Given the description of an element on the screen output the (x, y) to click on. 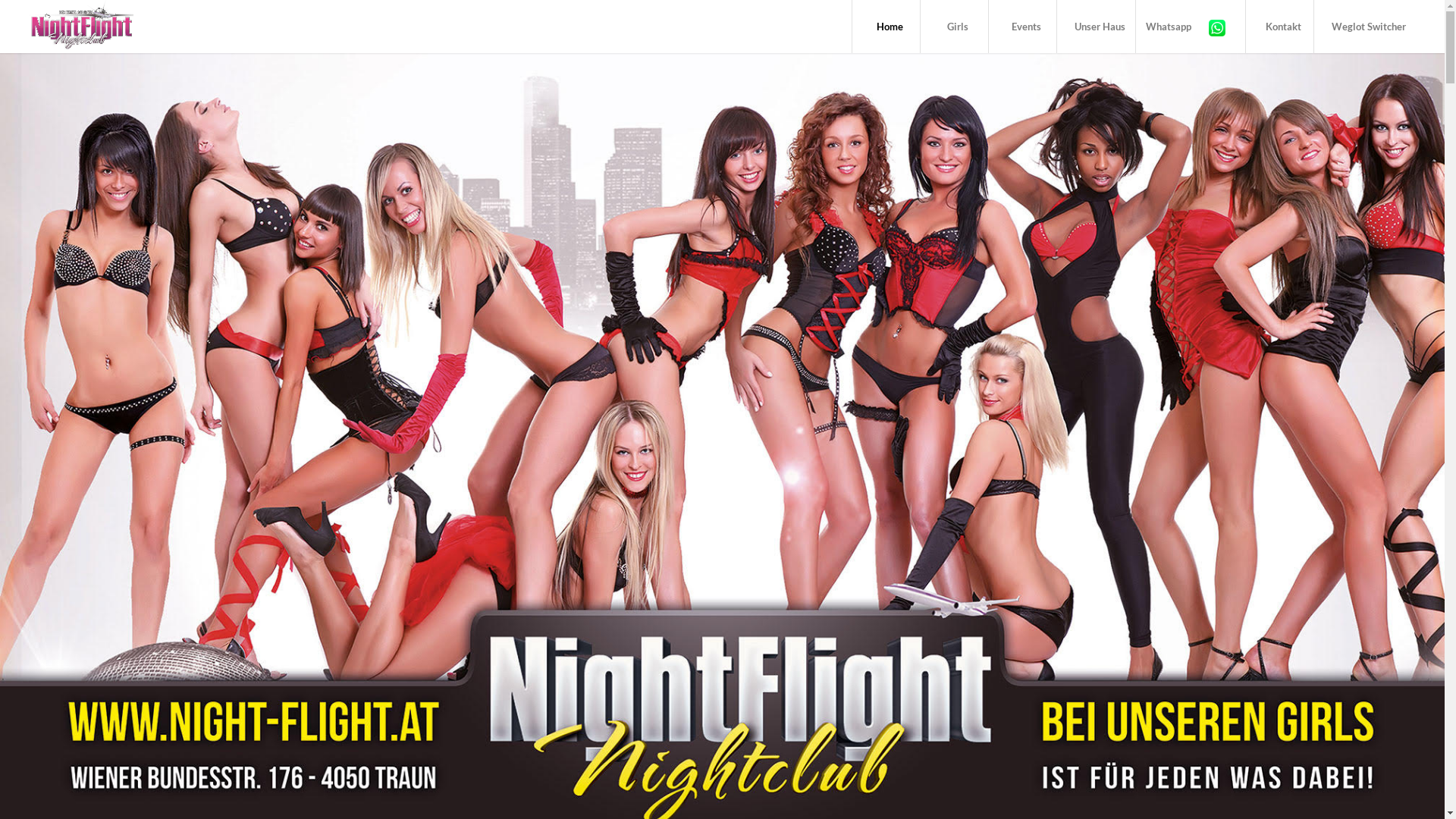
Kontakt Element type: text (1279, 26)
Home Element type: text (885, 26)
Unser Haus Element type: text (1095, 26)
Whatsapp Element type: text (1190, 26)
Weglot Switcher Element type: text (1364, 26)
Events Element type: text (1022, 26)
Girls Element type: text (953, 26)
